Given the description of an element on the screen output the (x, y) to click on. 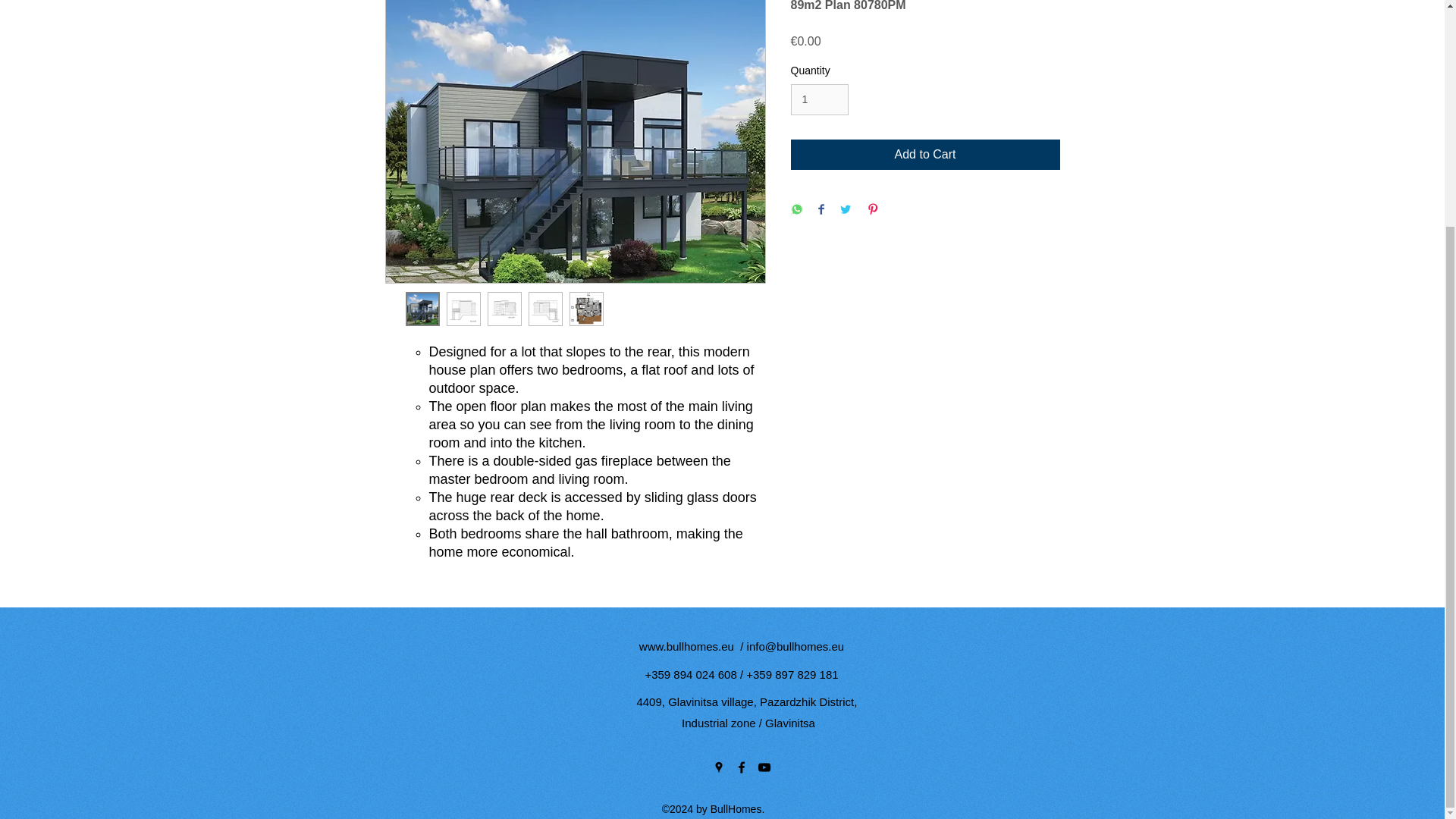
1 (818, 99)
